Given the description of an element on the screen output the (x, y) to click on. 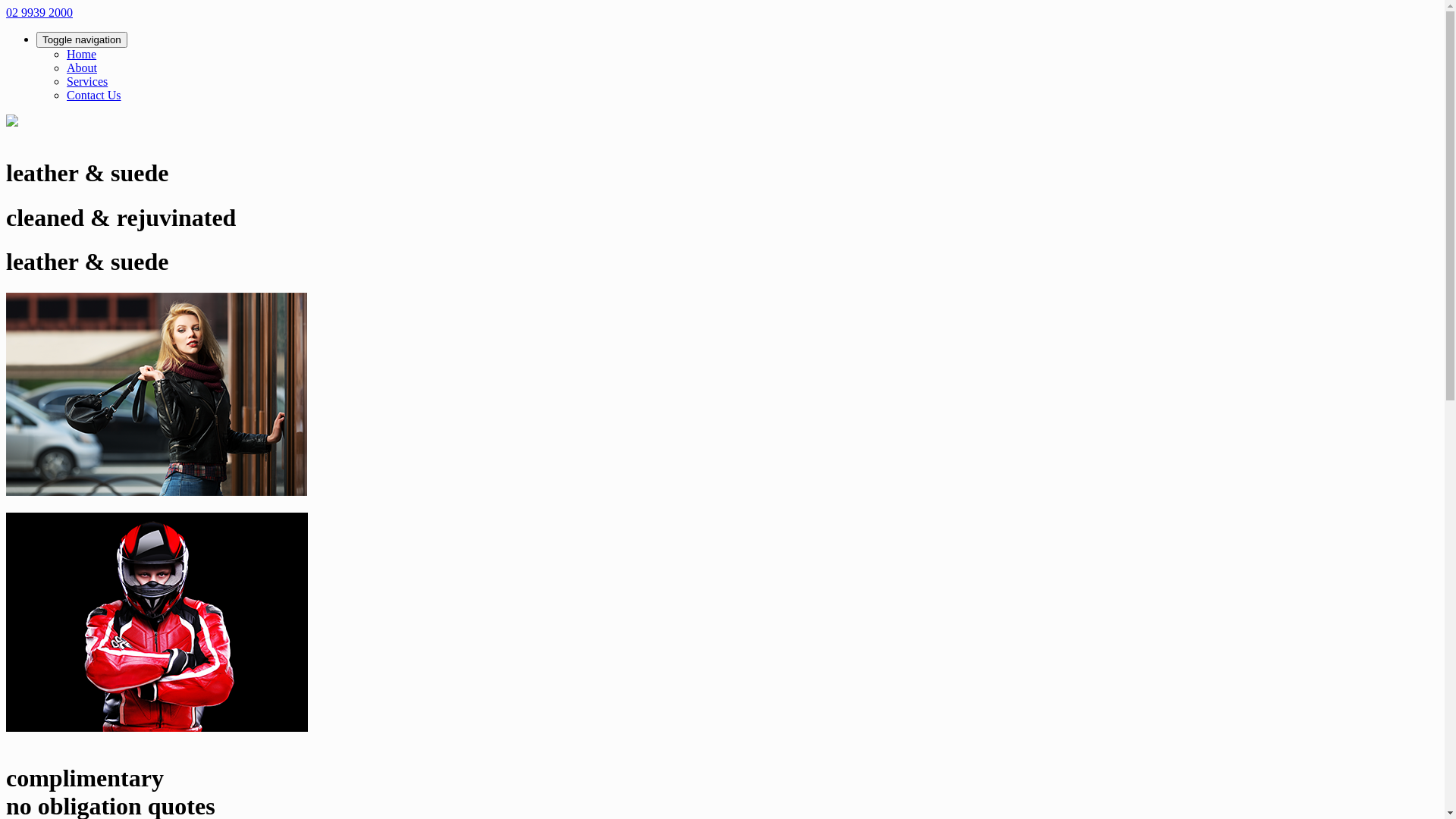
Services Element type: text (86, 81)
02 9939 2000 Element type: text (39, 12)
Toggle navigation Element type: text (737, 39)
Contact Us Element type: text (93, 94)
Home Element type: text (81, 53)
About Element type: text (81, 67)
Toggle navigation Element type: text (81, 39)
